Given the description of an element on the screen output the (x, y) to click on. 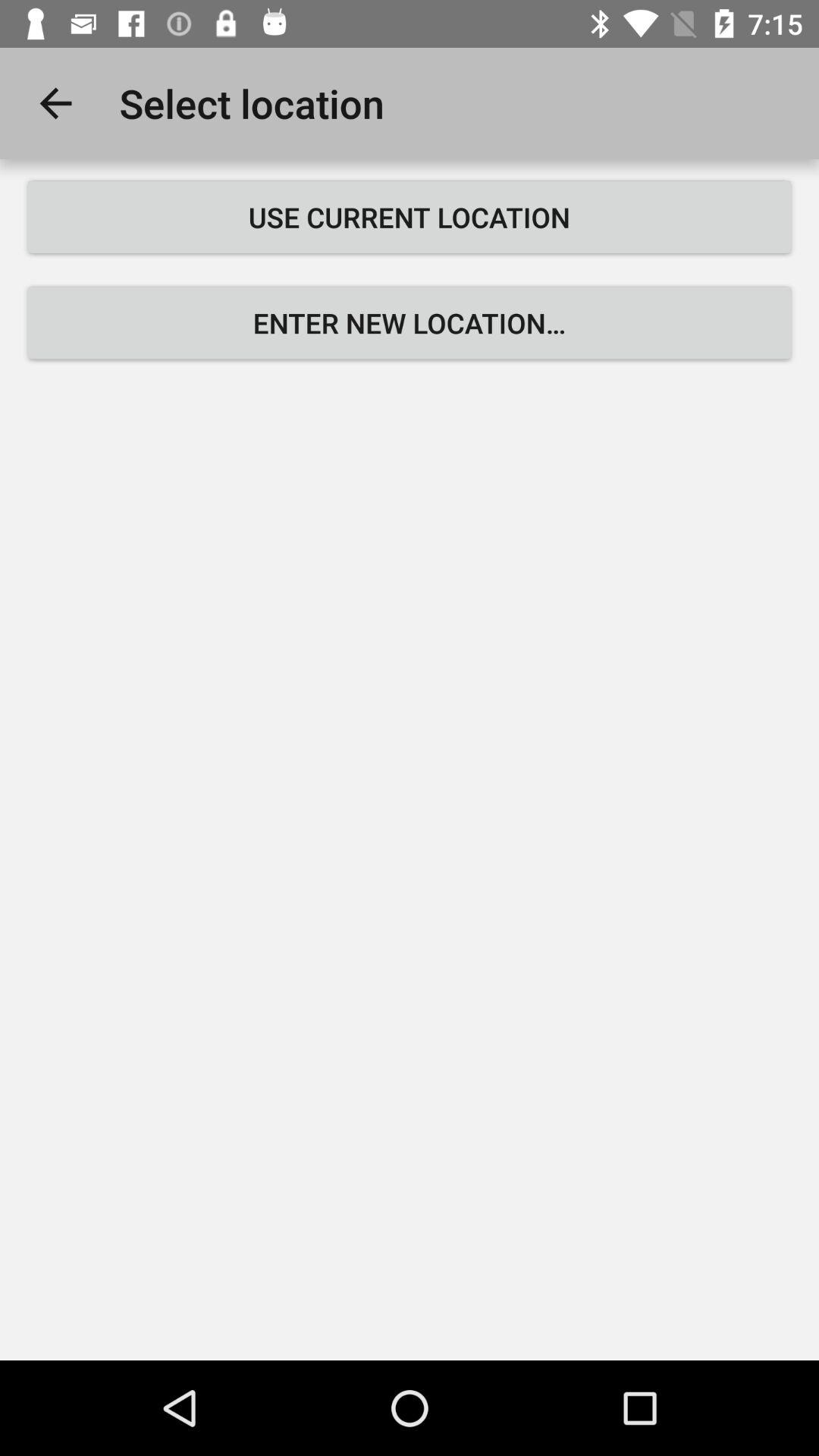
select use current location (409, 217)
